Given the description of an element on the screen output the (x, y) to click on. 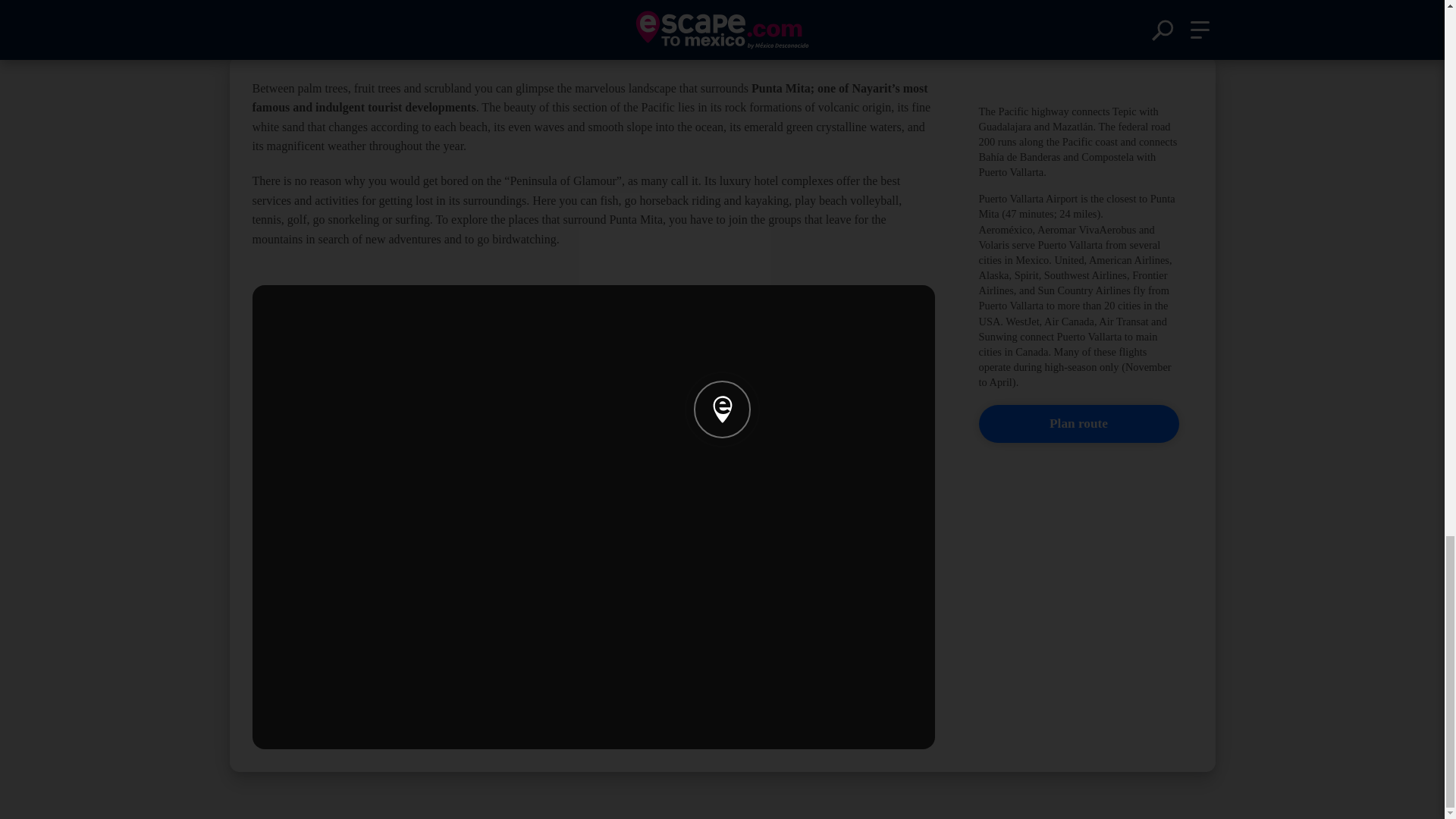
Plan route (1077, 423)
